Given the description of an element on the screen output the (x, y) to click on. 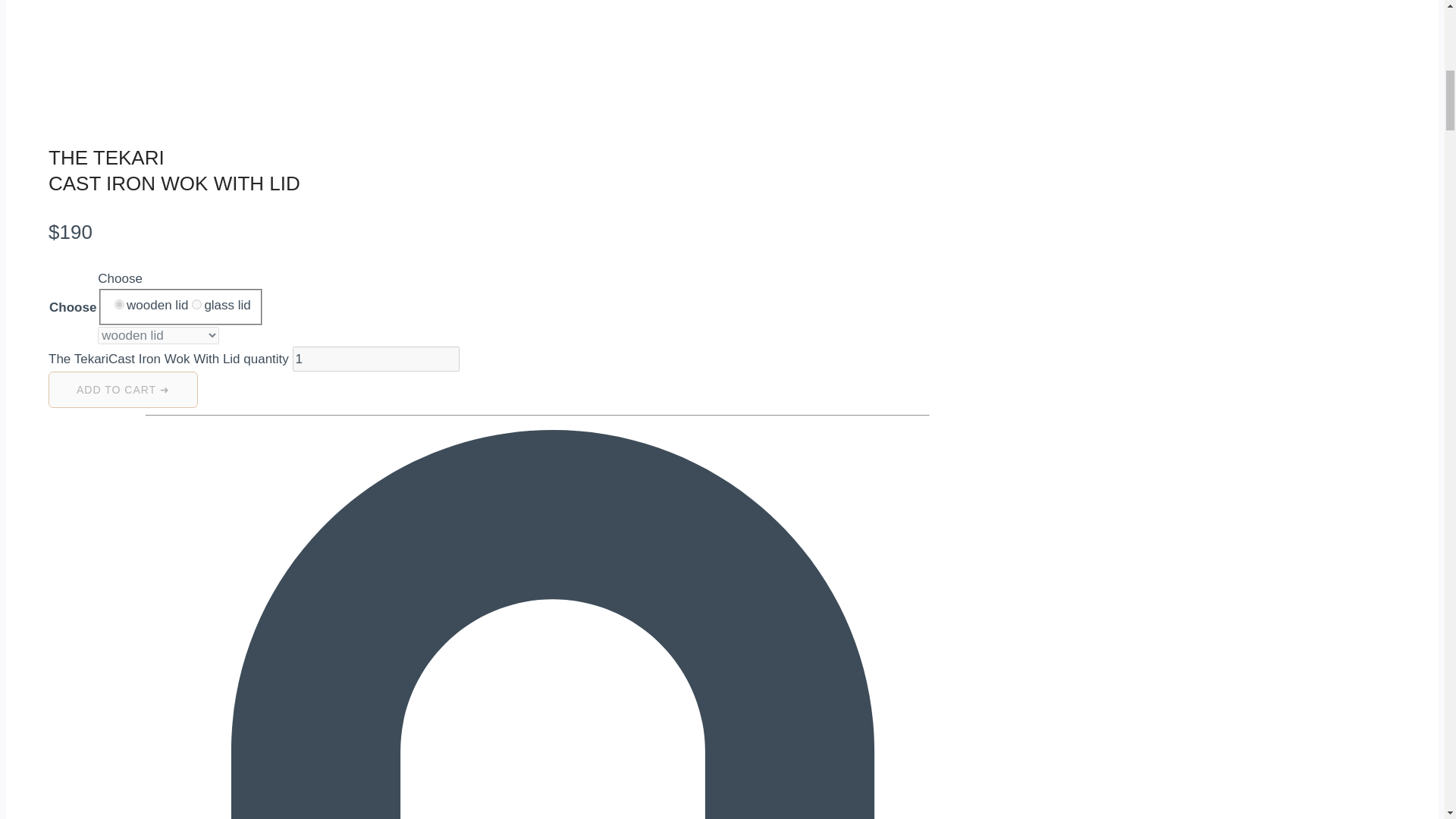
glass lid (197, 304)
1 (376, 358)
wooden lid (119, 304)
